Given the description of an element on the screen output the (x, y) to click on. 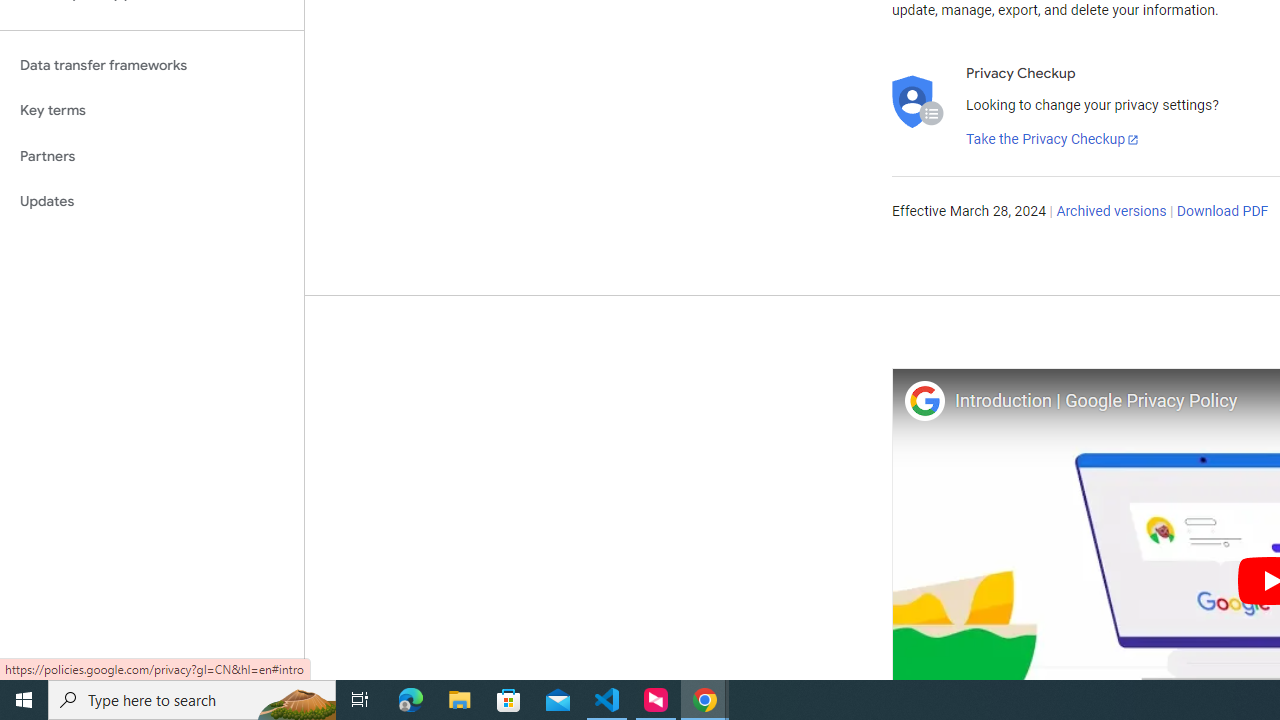
Key terms (152, 110)
Archived versions (1111, 212)
Take the Privacy Checkup (1053, 140)
Data transfer frameworks (152, 65)
Download PDF (1222, 212)
Photo image of Google (924, 400)
Partners (152, 156)
Updates (152, 201)
